Given the description of an element on the screen output the (x, y) to click on. 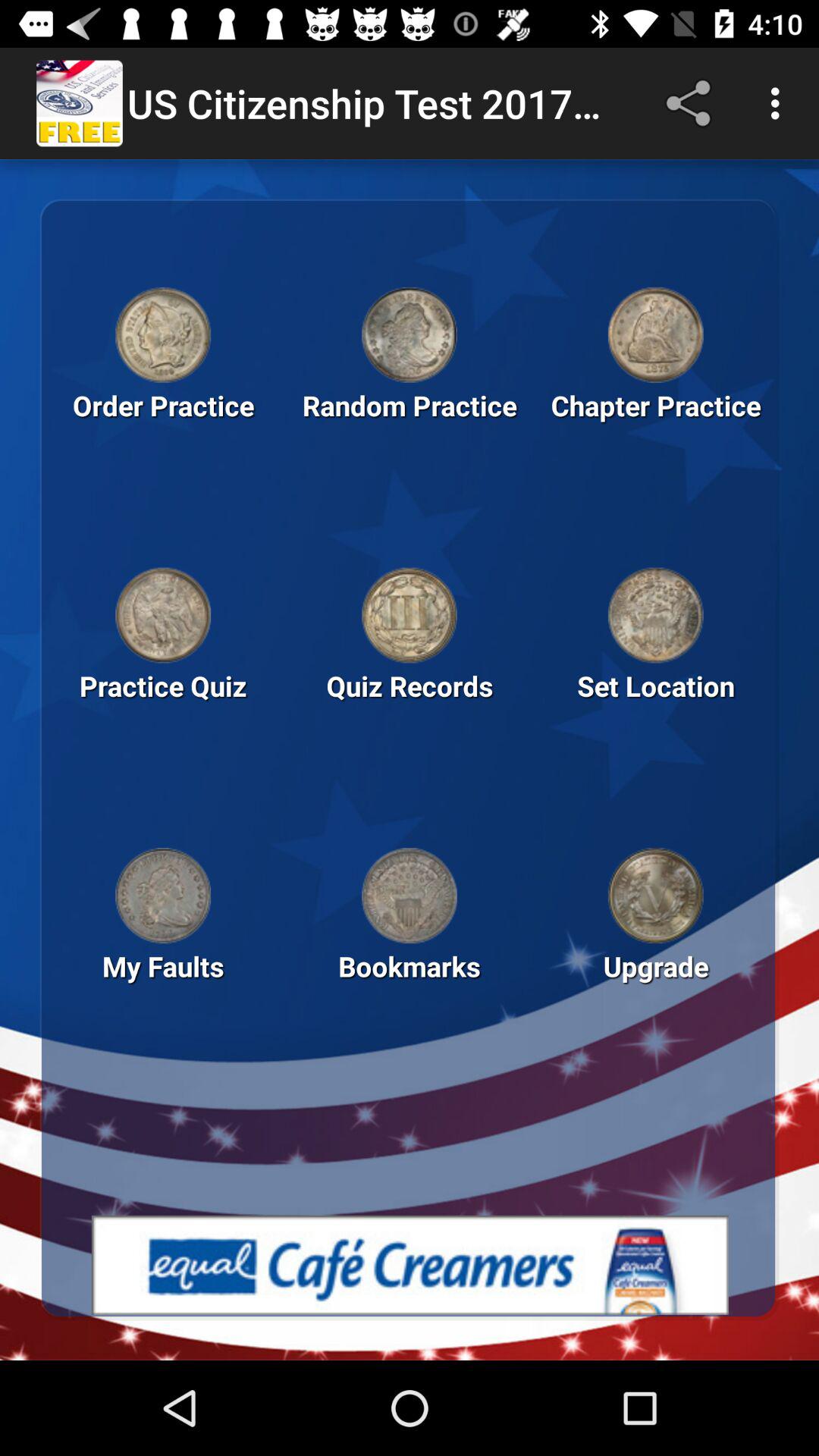
link to practice quiz (163, 615)
